Given the description of an element on the screen output the (x, y) to click on. 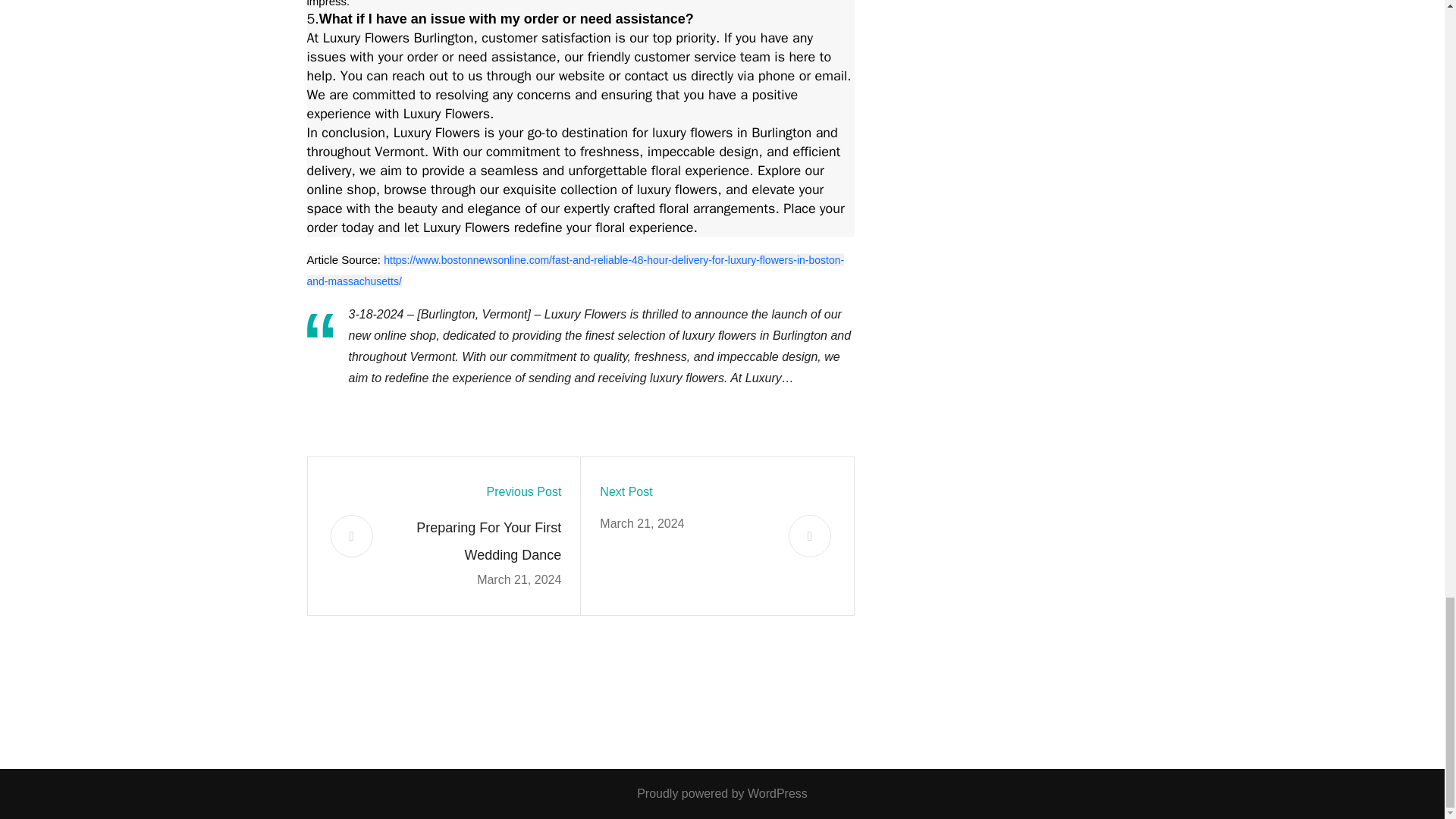
March 21, 2024 (518, 579)
March 21, 2024 (641, 522)
Preparing For Your First Wedding Dance (475, 541)
